Given the description of an element on the screen output the (x, y) to click on. 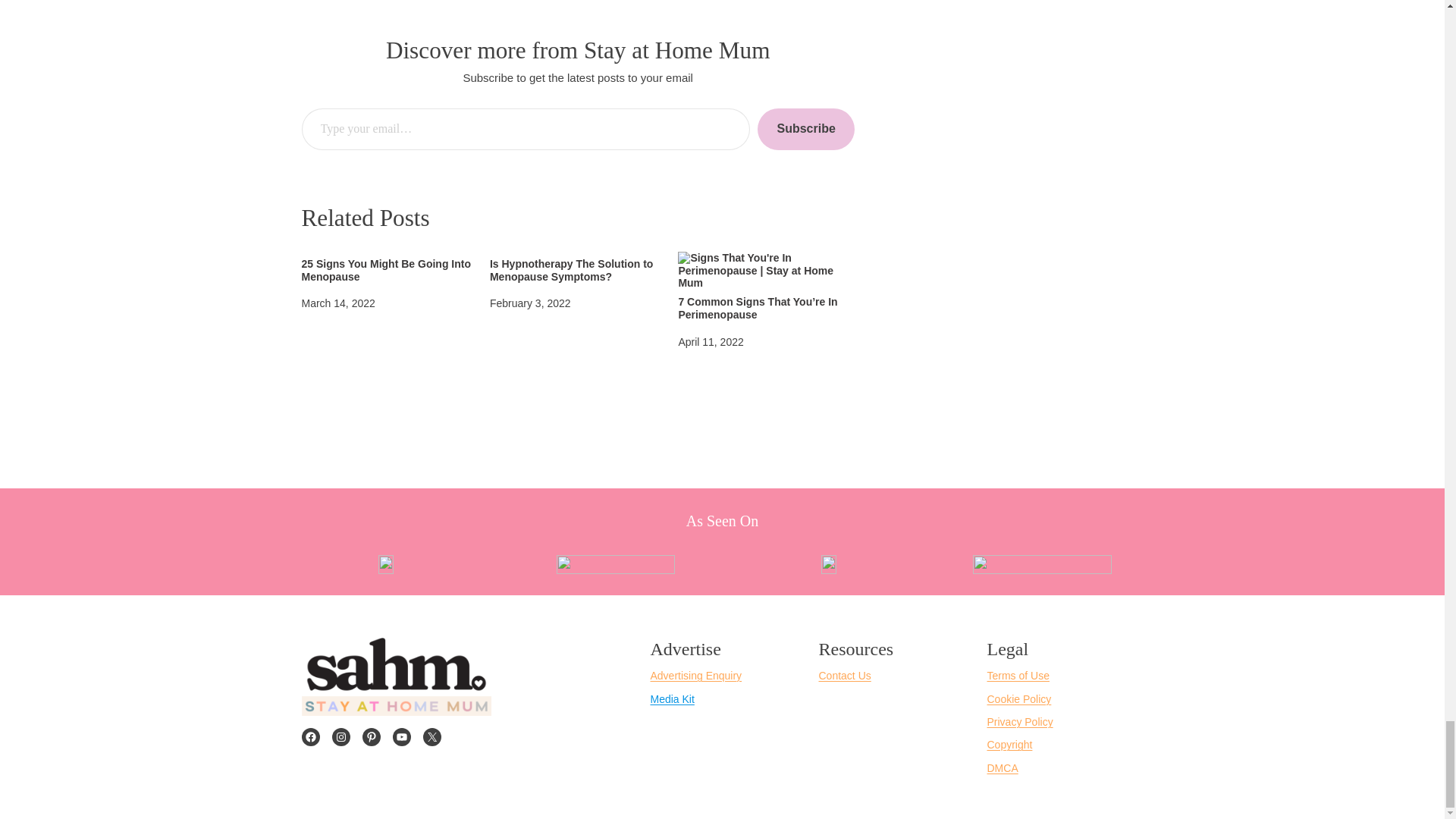
Please fill in this field. (526, 128)
